Given the description of an element on the screen output the (x, y) to click on. 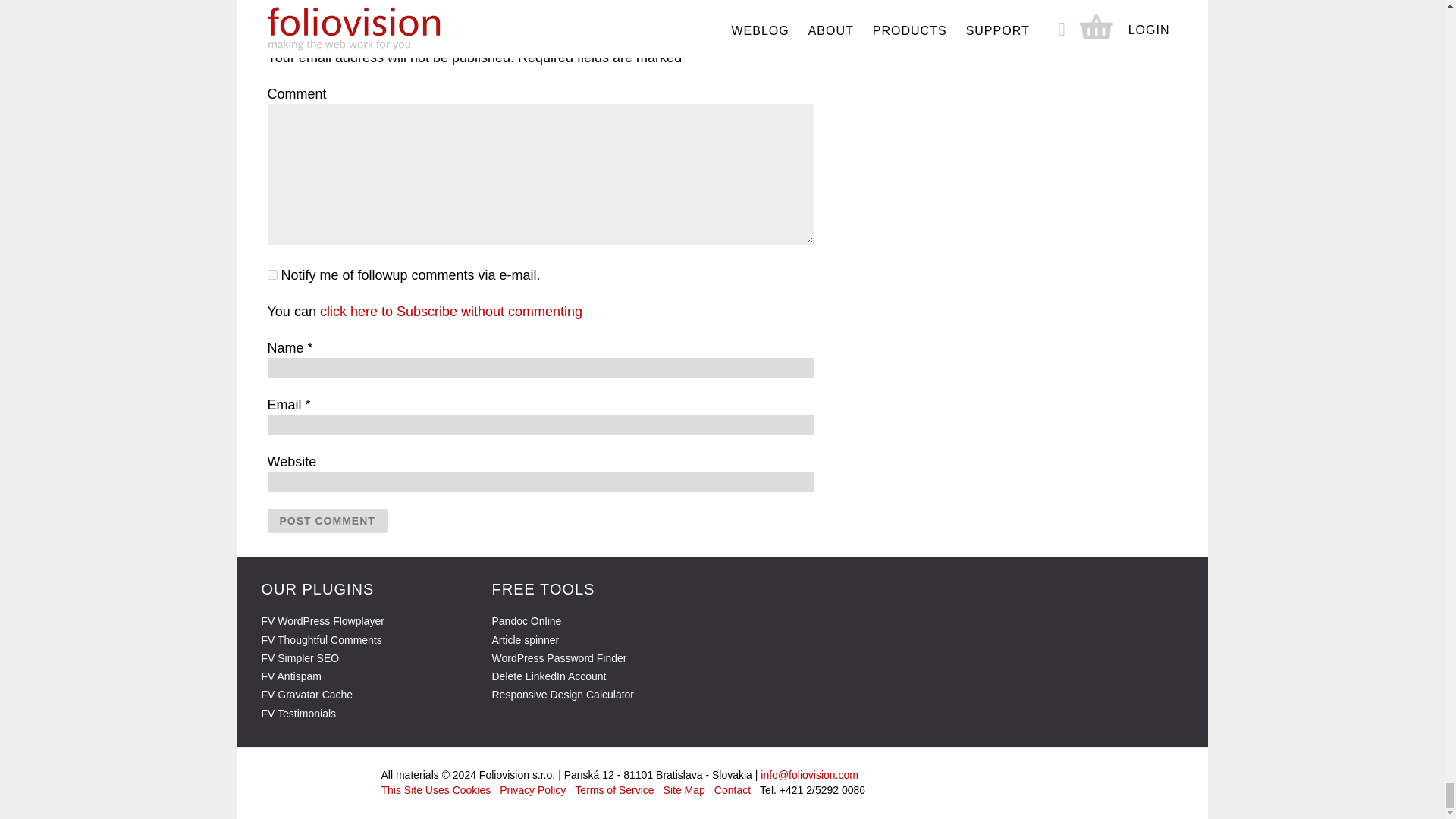
Post Comment (326, 520)
1 (271, 275)
